Given the description of an element on the screen output the (x, y) to click on. 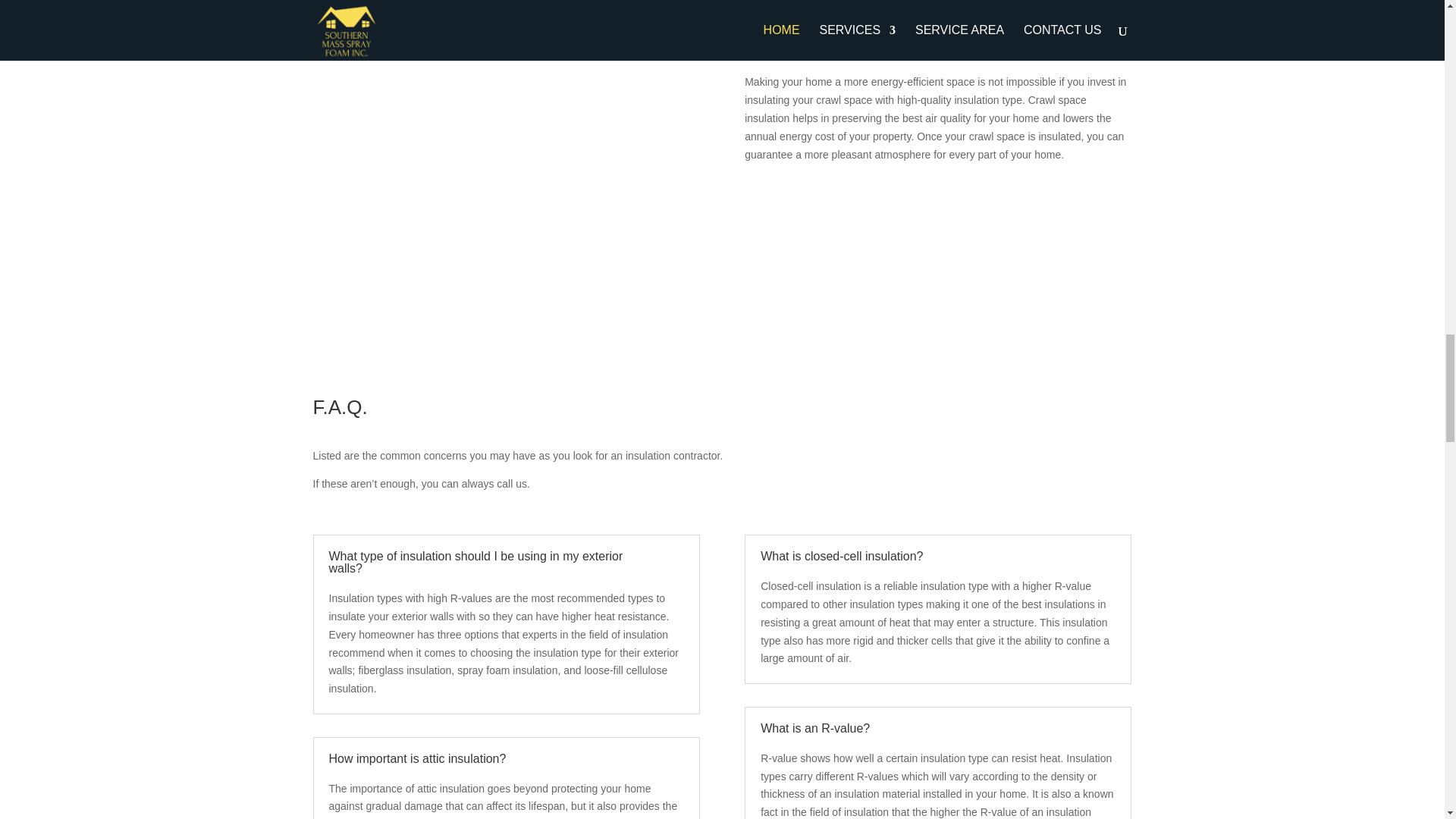
Spray Foam Insulation Wareham MA (505, 128)
